Given the description of an element on the screen output the (x, y) to click on. 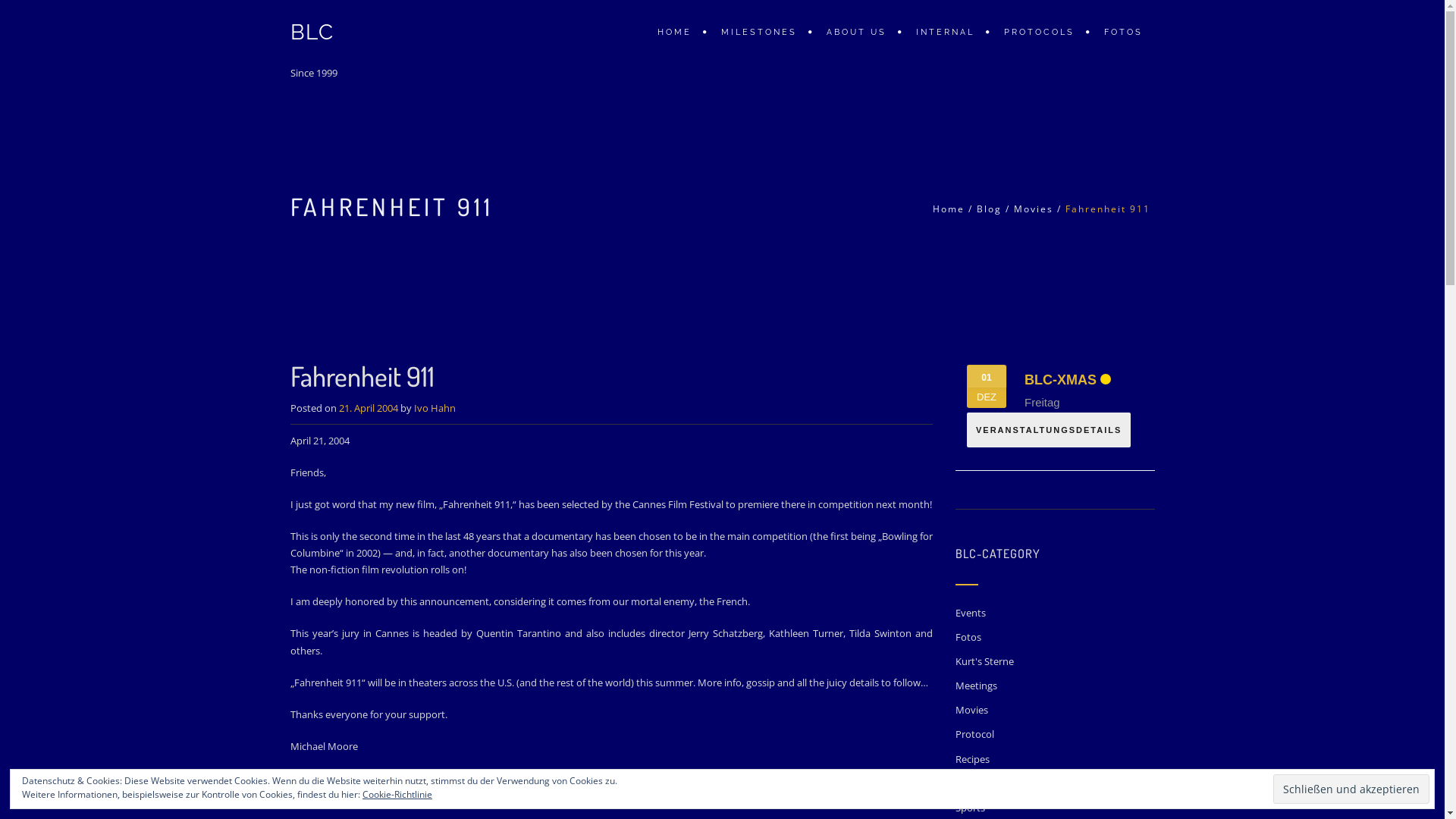
Protocol Element type: text (974, 733)
21. April 2004 Element type: text (367, 407)
2004 Element type: text (434, 800)
BLC-XMAS Element type: text (1060, 379)
Cookie-Richtlinie Element type: text (397, 793)
Sports Element type: text (970, 807)
Social Element type: text (968, 783)
Kurt's Sterne Element type: text (984, 661)
Movies Element type: text (1033, 208)
Movies Element type: text (466, 800)
MOVIES Element type: text (359, 800)
ABOUT US Element type: text (858, 32)
Home Element type: text (948, 208)
Events Element type: text (970, 612)
HOME Element type: text (681, 32)
Meetings Element type: text (976, 685)
Ivo Hahn Element type: text (434, 407)
Blog Element type: text (988, 208)
INTERNAL Element type: text (947, 32)
Movies Element type: text (971, 709)
MILESTONES Element type: text (760, 32)
BLC Element type: text (311, 31)
VERANSTALTUNGSDETAILS Element type: text (1048, 429)
FOTOS Element type: text (1122, 32)
Fotos Element type: text (968, 636)
Recipes Element type: text (972, 758)
PROTOCOLS Element type: text (1041, 32)
